Given the description of an element on the screen output the (x, y) to click on. 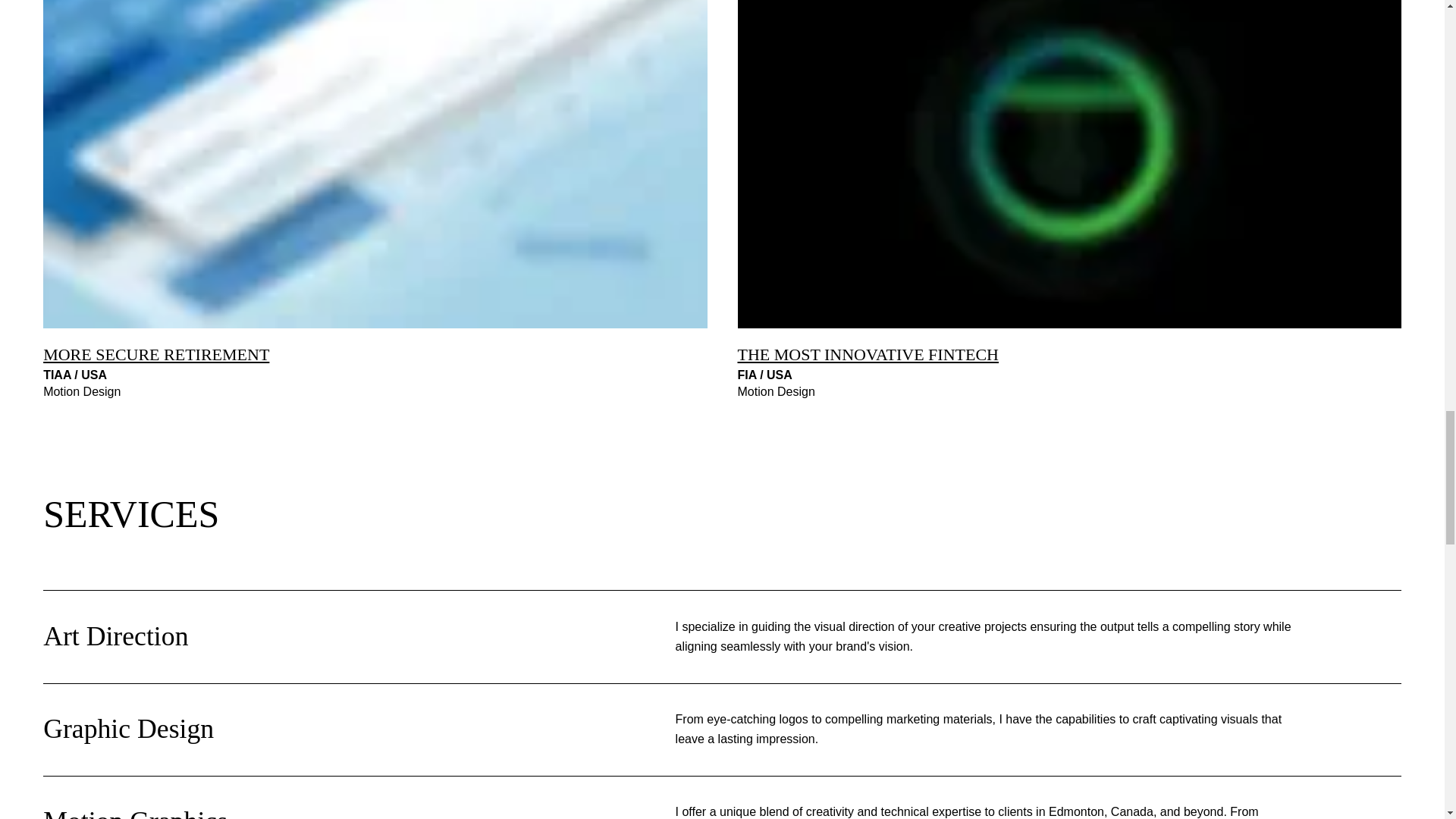
THE MOST INNOVATIVE FINTECH (866, 353)
MORE SECURE RETIREMENT (156, 353)
